Given the description of an element on the screen output the (x, y) to click on. 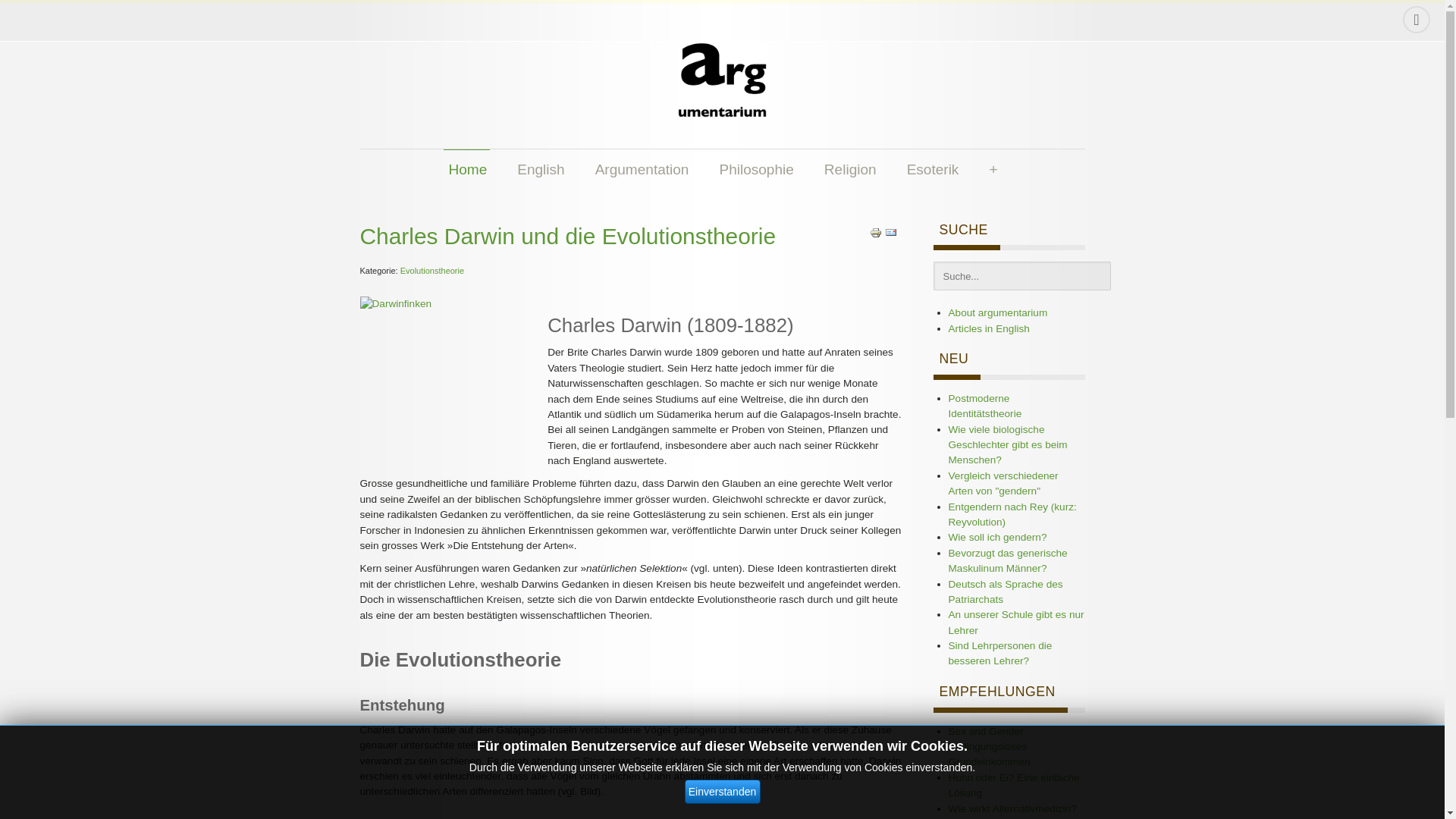
RSS Element type: hover (1416, 19)
Argumentation Element type: text (641, 169)
English Element type: text (539, 169)
Charles Darwin und die Evolutionstheorie Element type: text (567, 235)
Philosophie Element type: text (755, 169)
Entgendern nach Rey (kurz: Reyvolution) Element type: text (1011, 514)
Wie wirkt Alternativmedizin? Element type: text (1011, 808)
Religion Element type: text (849, 169)
Print article < Charles Darwin und die Evolutionstheorie > Element type: hover (875, 232)
Wie viele biologische Geschlechter gibt es beim Menschen? Element type: text (1006, 444)
+ Element type: text (992, 169)
About argumentarium Element type: text (997, 312)
Sind Lehrpersonen die besseren Lehrer? Element type: text (999, 653)
Sex and Gender Element type: text (984, 731)
Evolutionstheorie Element type: text (432, 270)
Vergleich verschiedener Arten von "gendern" Element type: text (1002, 483)
Bedingungsloses Grundeinkommen Element type: text (988, 753)
Articles in English Element type: text (988, 328)
Esoterik Element type: text (932, 169)
Email this link to a friend Element type: hover (890, 232)
Wie soll ich gendern? Element type: text (996, 536)
An unserer Schule gibt es nur Lehrer Element type: text (1015, 621)
Home Element type: text (466, 169)
Deutsch als Sprache des Patriarchats Element type: text (1004, 591)
